Given the description of an element on the screen output the (x, y) to click on. 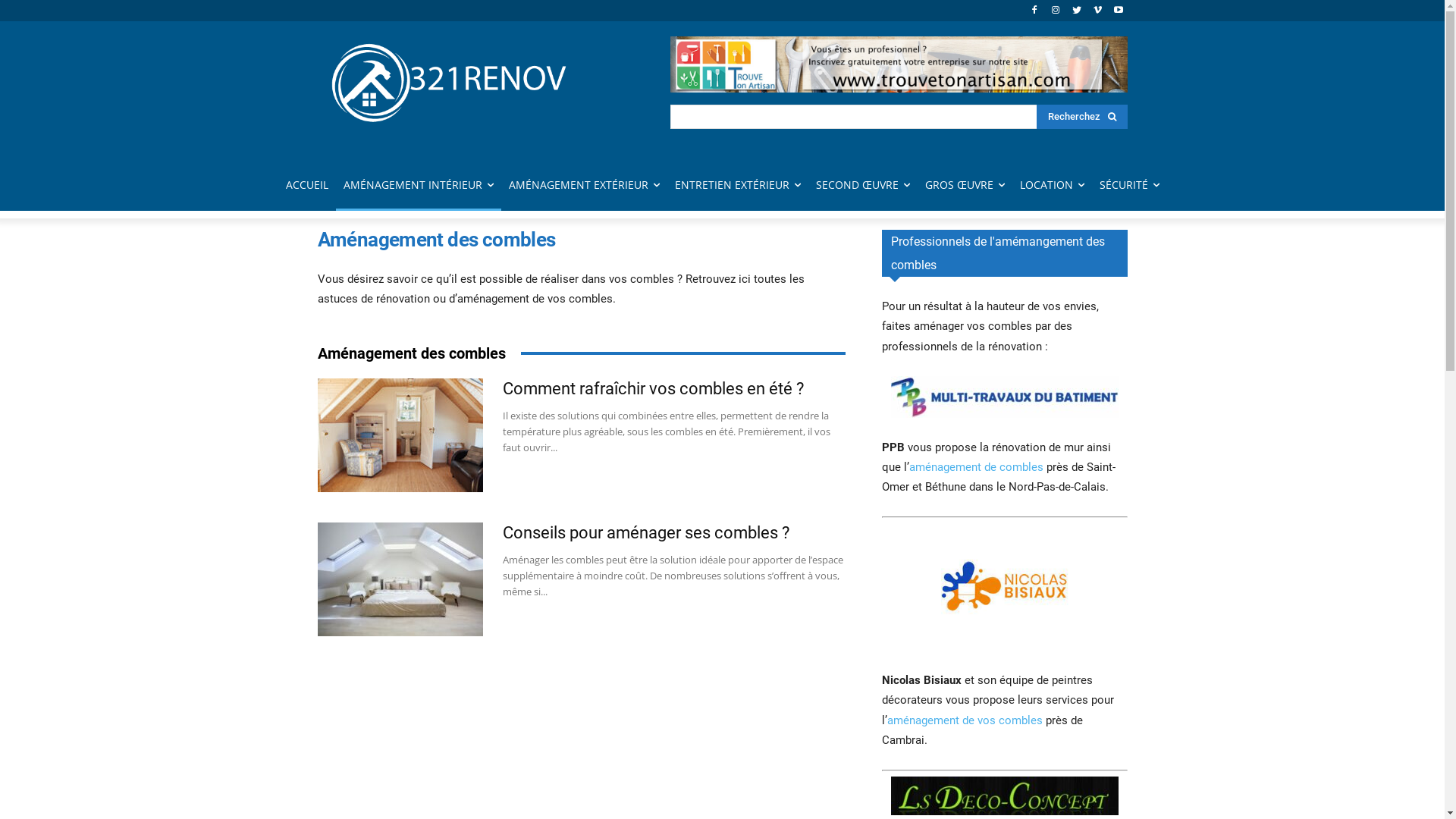
Recherchez Element type: text (1080, 116)
Youtube Element type: hover (1118, 9)
Instagram Element type: hover (1054, 9)
ACCUEIL Element type: text (306, 184)
Facebook Element type: hover (1034, 9)
Twitter Element type: hover (1076, 9)
Vimeo Element type: hover (1097, 9)
LOCATION Element type: text (1051, 184)
